Given the description of an element on the screen output the (x, y) to click on. 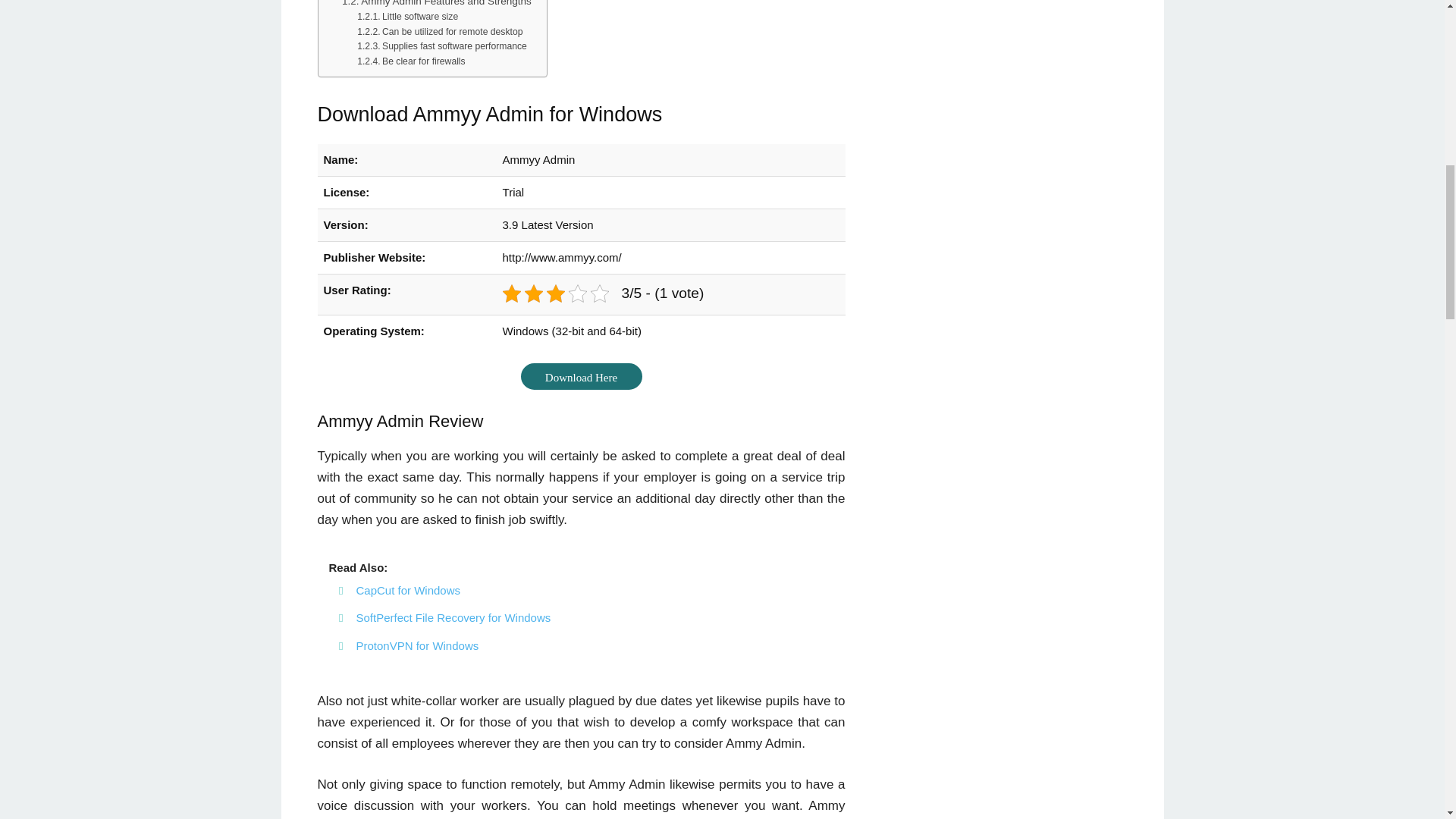
Little software size (407, 17)
Can be utilized for remote desktop (439, 32)
Can be utilized for remote desktop (439, 32)
Little software size (407, 17)
Supplies fast software performance (441, 46)
Be clear for firewalls (410, 61)
Ammy Admin Features and Strengths (436, 4)
ProtonVPN for Windows (417, 645)
Ammy Admin Features and Strengths (436, 4)
Download Here (580, 376)
